Given the description of an element on the screen output the (x, y) to click on. 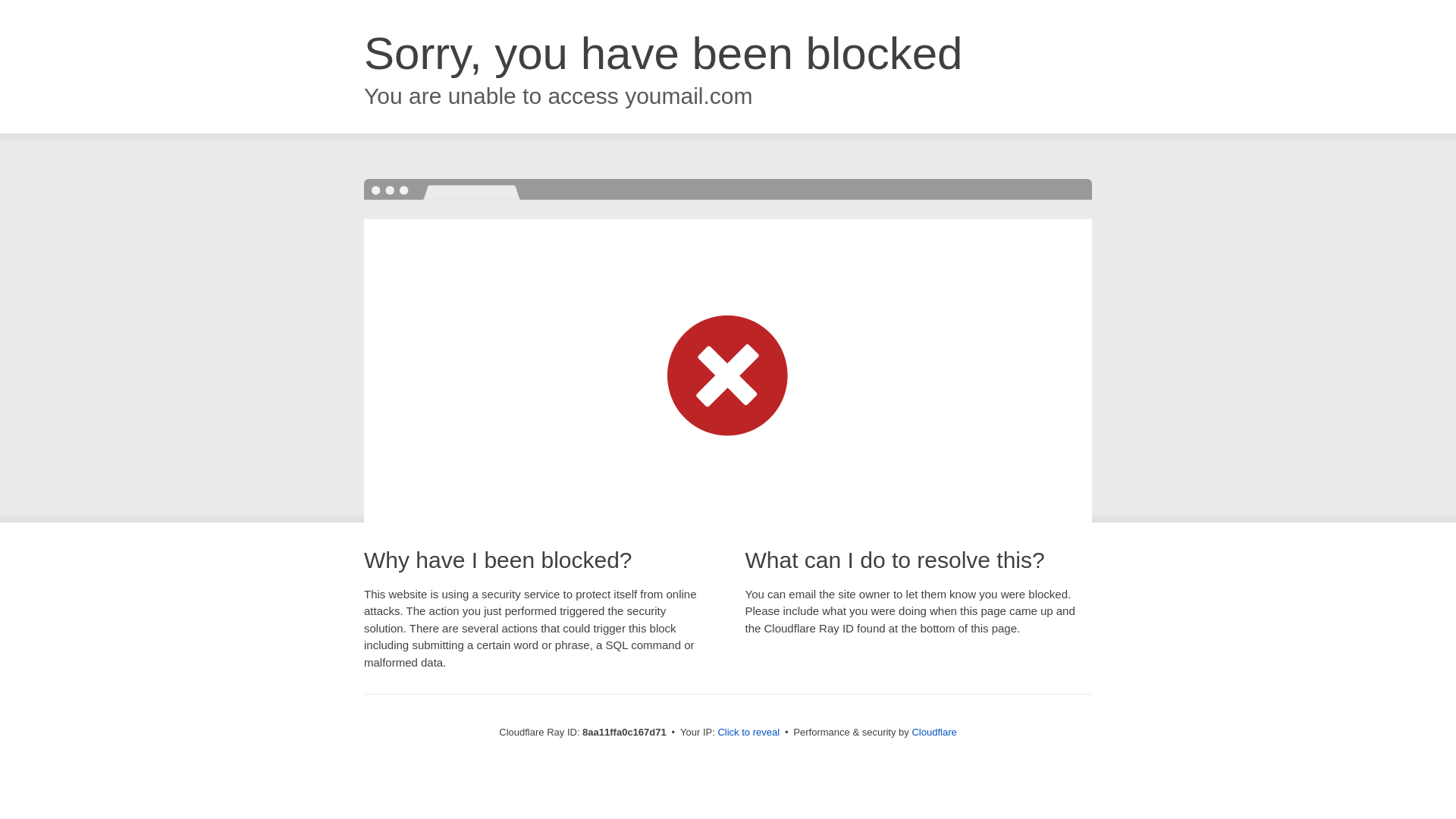
Click to reveal (747, 732)
Cloudflare (933, 731)
